Given the description of an element on the screen output the (x, y) to click on. 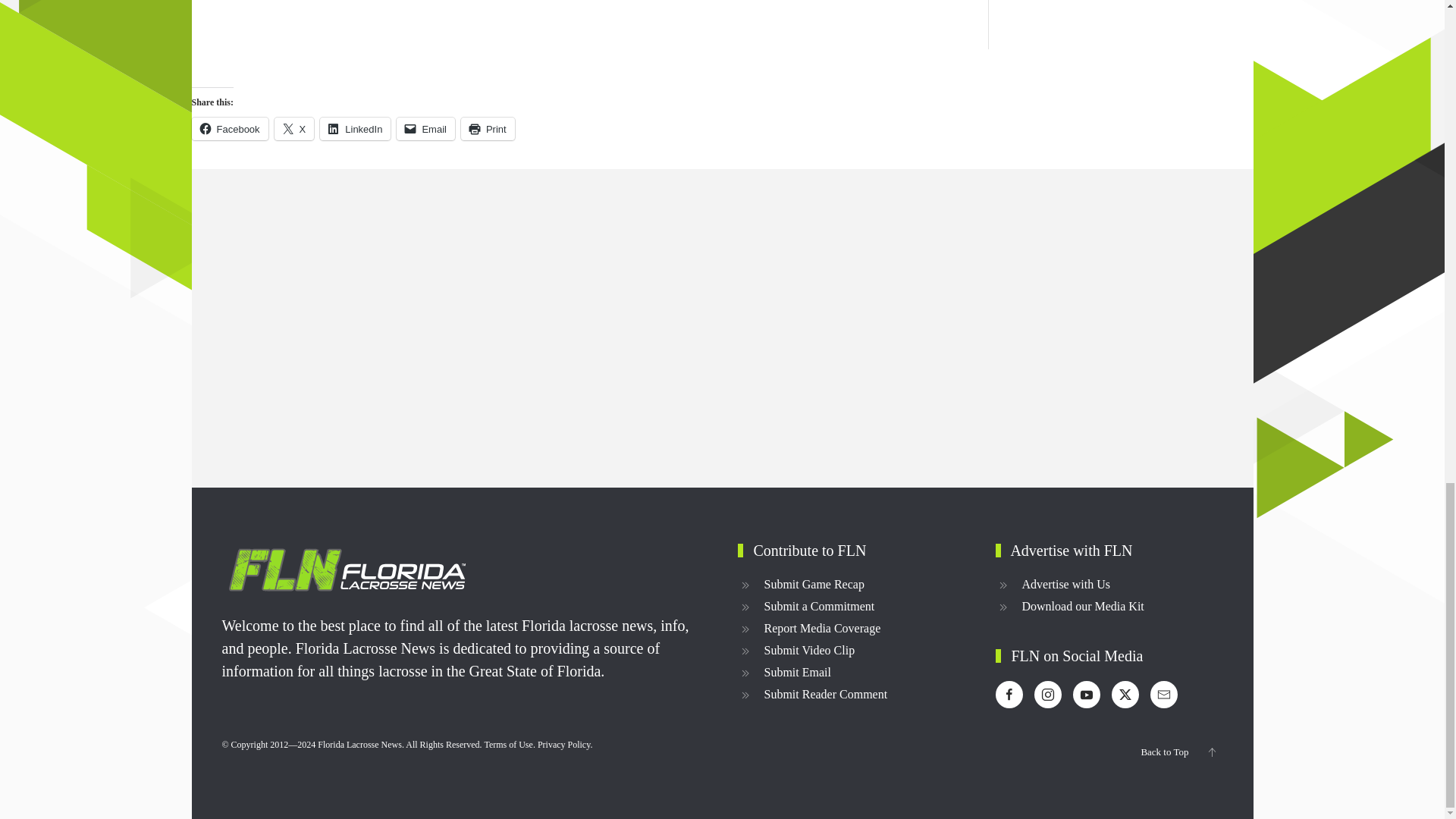
Click to share on Facebook (228, 128)
Click to share on X (294, 128)
Click to share on LinkedIn (355, 128)
Click to print (488, 128)
Back To Top (1211, 752)
Click to email a link to a friend (425, 128)
